Given the description of an element on the screen output the (x, y) to click on. 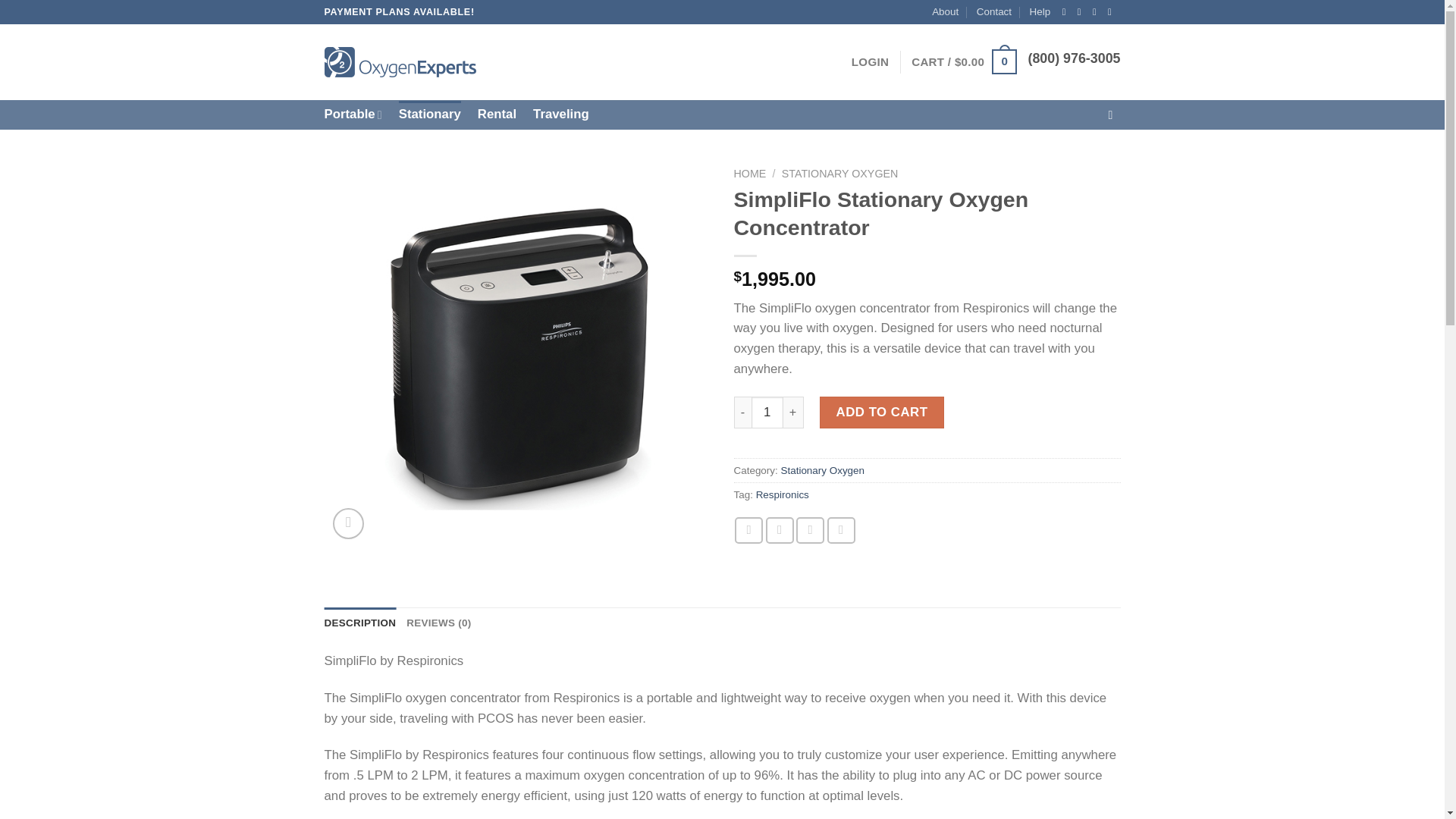
Qty (767, 412)
Follow on Twitter (1097, 11)
ADD TO CART (881, 412)
Send us an email (1113, 11)
Stationary Oxygen (822, 470)
Follow on Facebook (1066, 11)
1 (767, 412)
STATIONARY OXYGEN (839, 173)
Email to a Friend (810, 529)
Share on Twitter (779, 529)
- (742, 412)
About (944, 12)
HOME (750, 173)
Follow on Instagram (1082, 11)
